Given the description of an element on the screen output the (x, y) to click on. 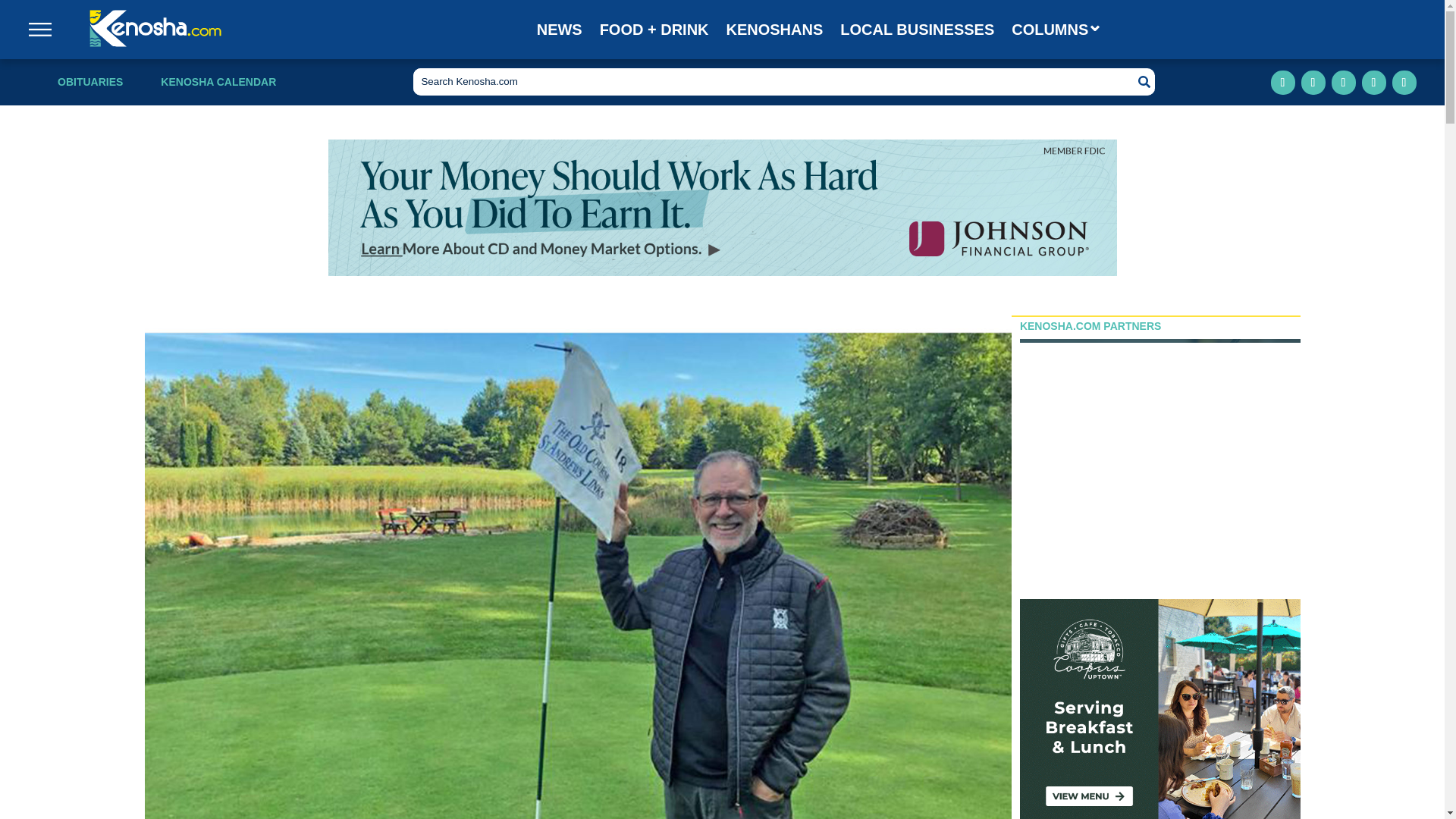
Follow on Facebook (1283, 82)
Follow on Spotify (1403, 82)
Follow on LinkedIn (1343, 82)
Follow on Instagram (1312, 82)
Follow on X (1373, 82)
